Given the description of an element on the screen output the (x, y) to click on. 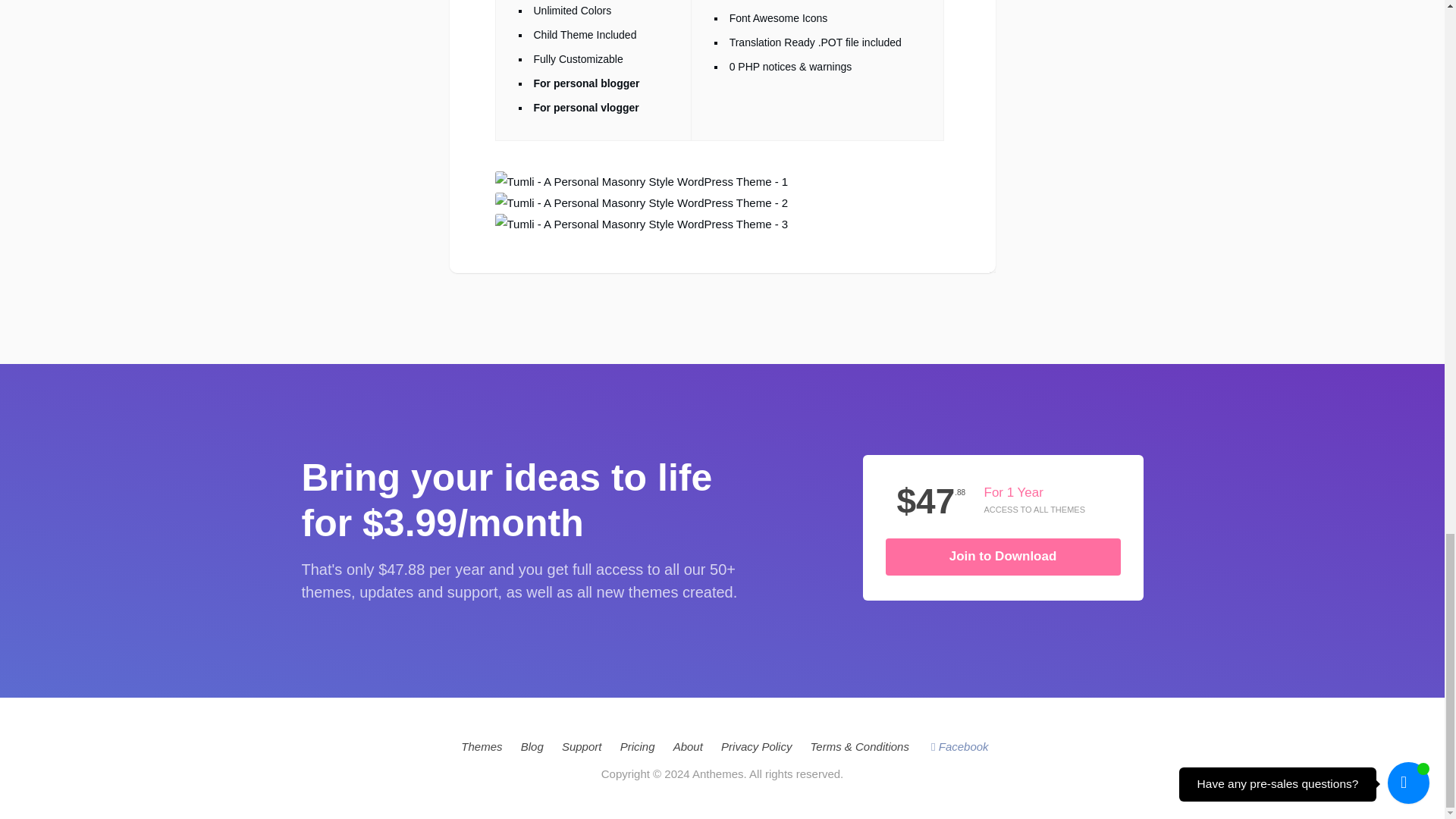
Facebook (959, 746)
Blog (532, 746)
Join to Download (1003, 556)
Support (582, 746)
About (687, 746)
Themes (481, 746)
Facebook (959, 746)
Privacy Policy (756, 746)
Pricing (637, 746)
